Given the description of an element on the screen output the (x, y) to click on. 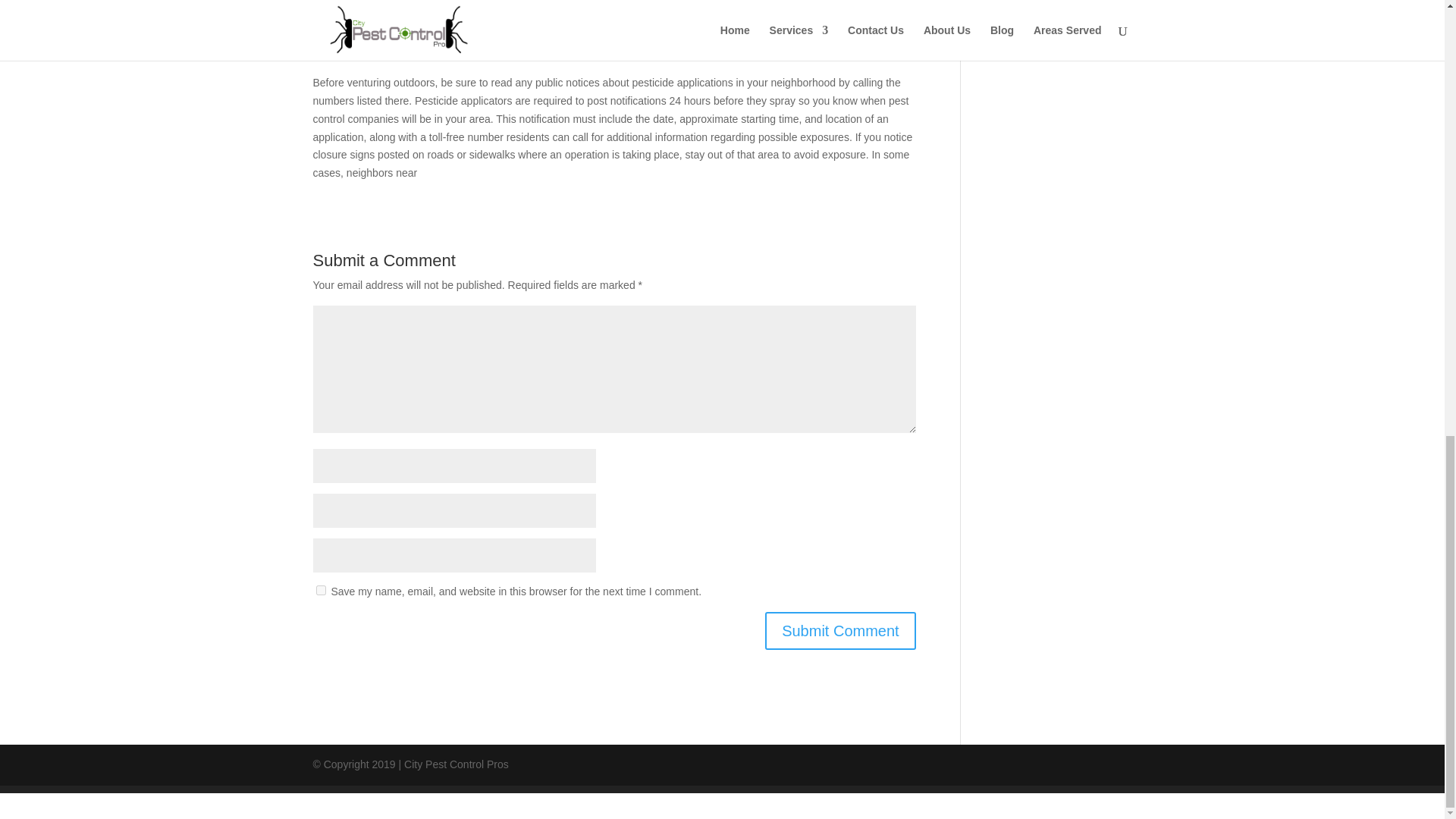
Submit Comment (840, 630)
Submit Comment (840, 630)
yes (319, 590)
